Given the description of an element on the screen output the (x, y) to click on. 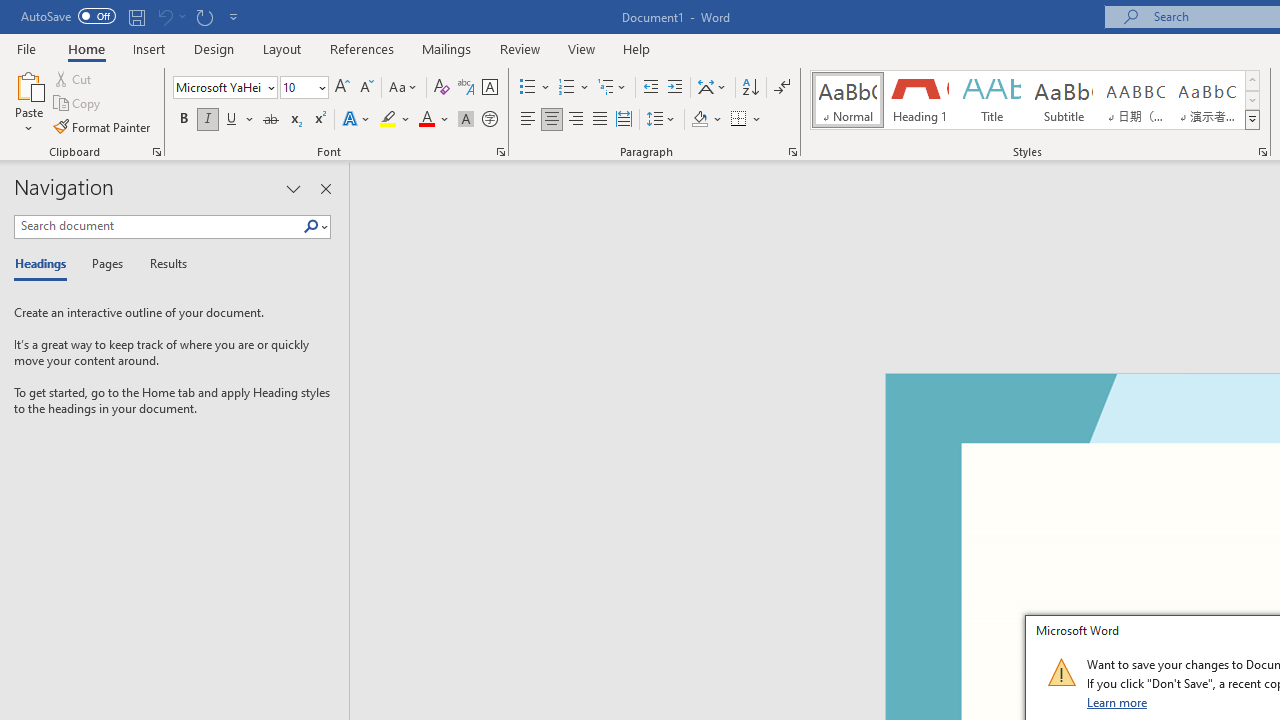
Subtitle (1063, 100)
